Given the description of an element on the screen output the (x, y) to click on. 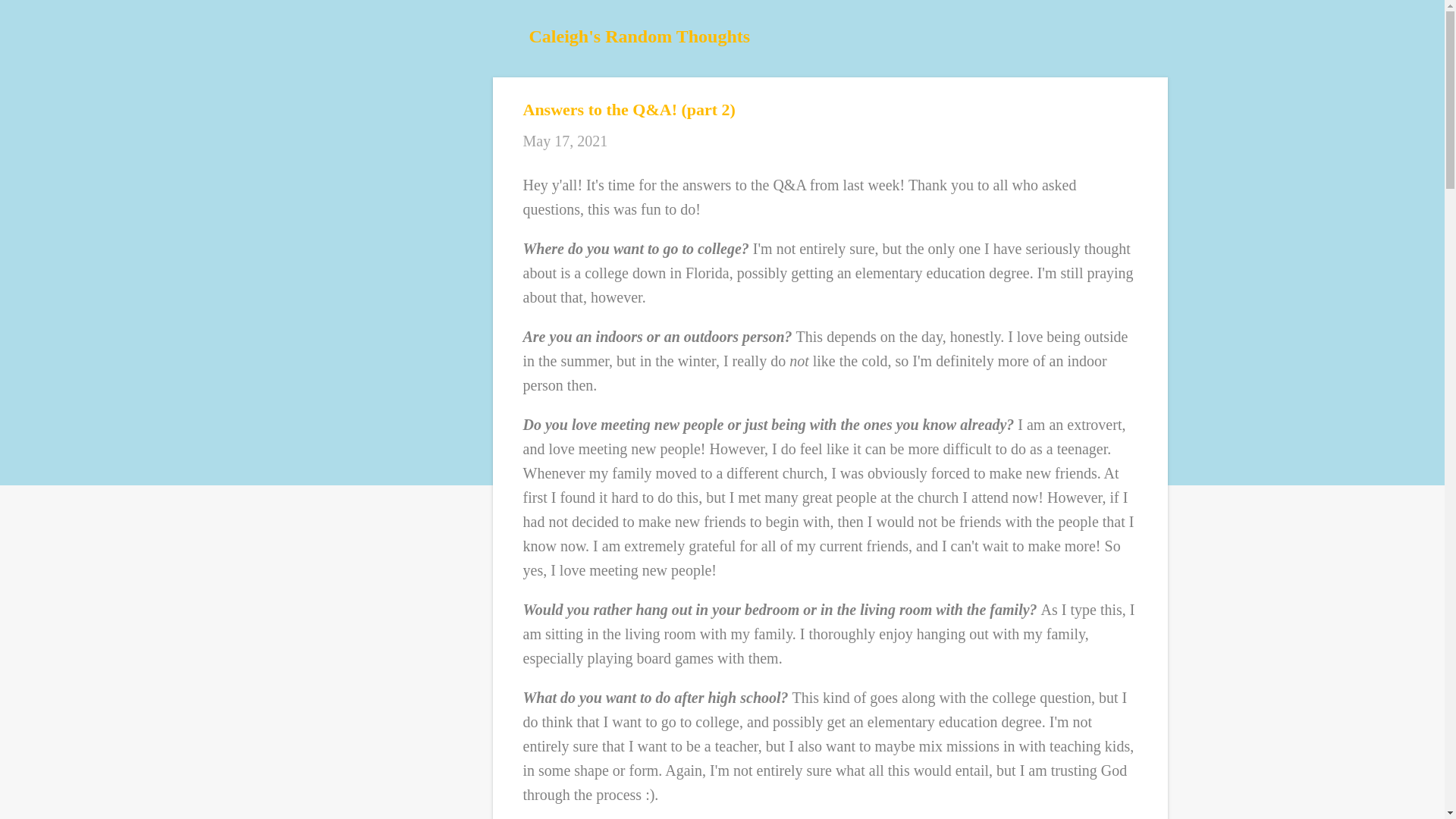
May 17, 2021 (565, 140)
permanent link (565, 140)
Caleigh's Random Thoughts (640, 35)
